Given the description of an element on the screen output the (x, y) to click on. 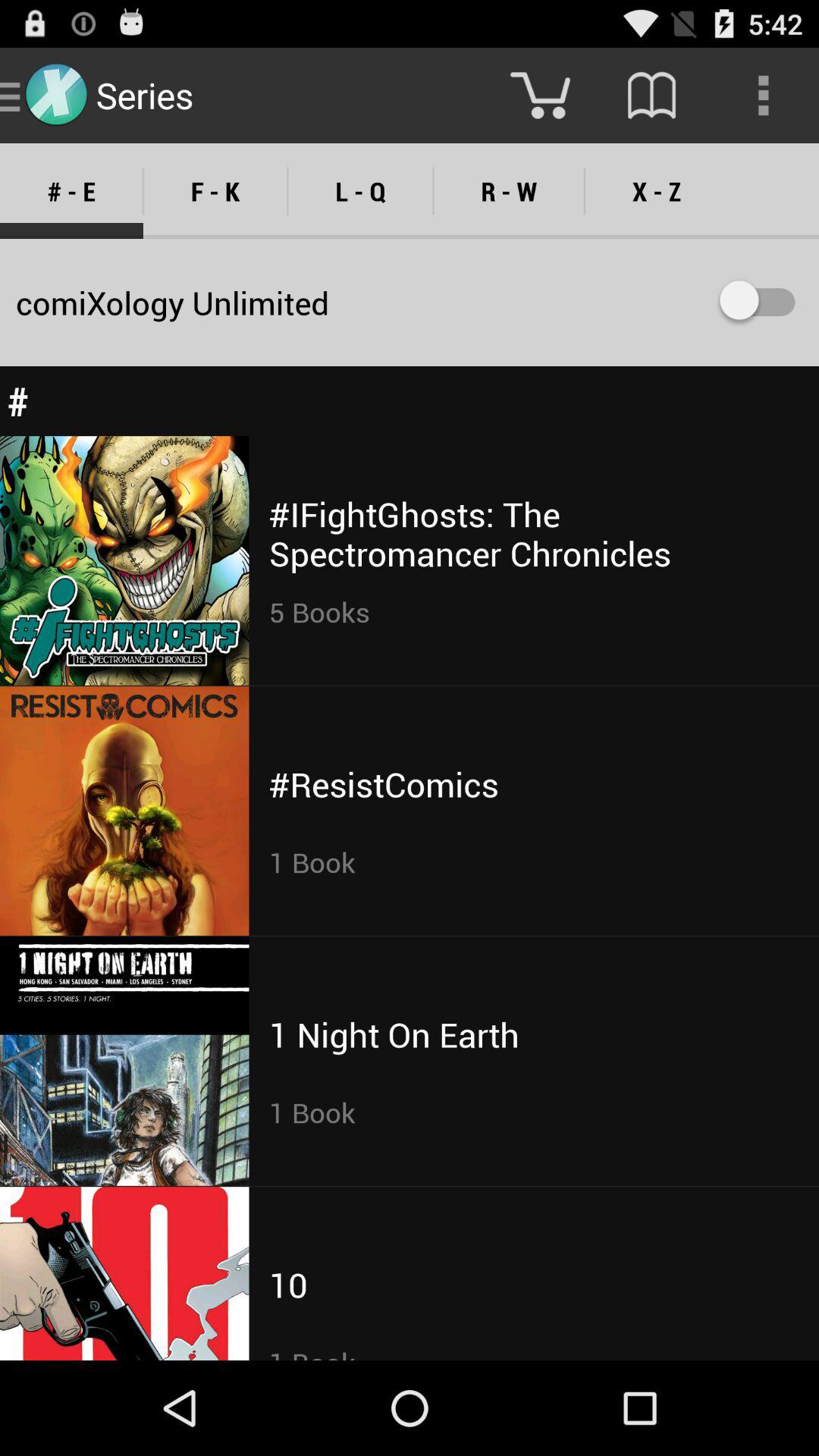
launch the icon to the left of the l - q item (215, 190)
